Given the description of an element on the screen output the (x, y) to click on. 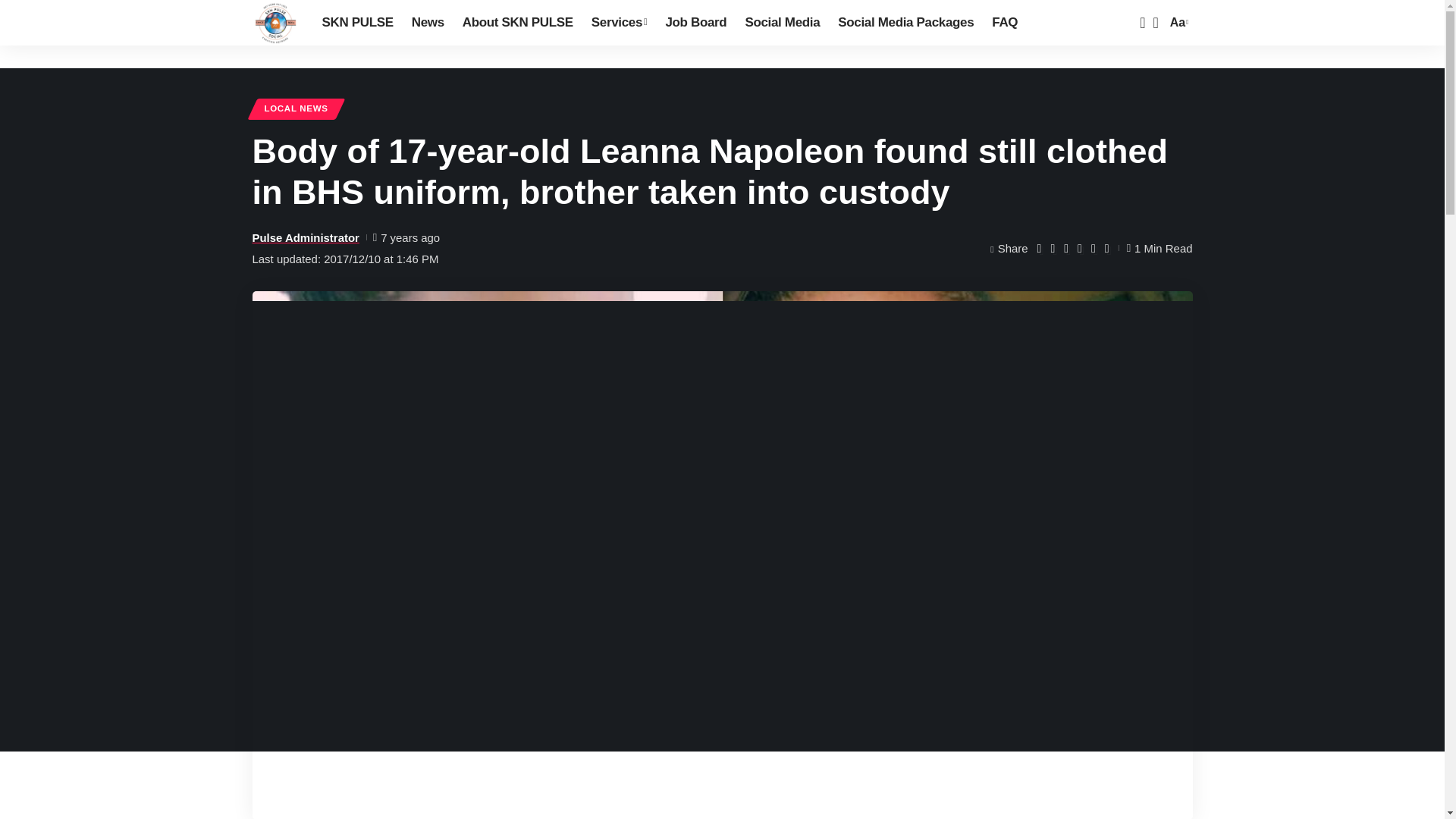
News (427, 22)
Job Board (695, 22)
Aa (1177, 22)
SKN PULSE (357, 22)
Social Media Packages (905, 22)
Social Media (781, 22)
About SKN PULSE (517, 22)
Services (619, 22)
SKN PULSE (274, 22)
FAQ (1004, 22)
